Given the description of an element on the screen output the (x, y) to click on. 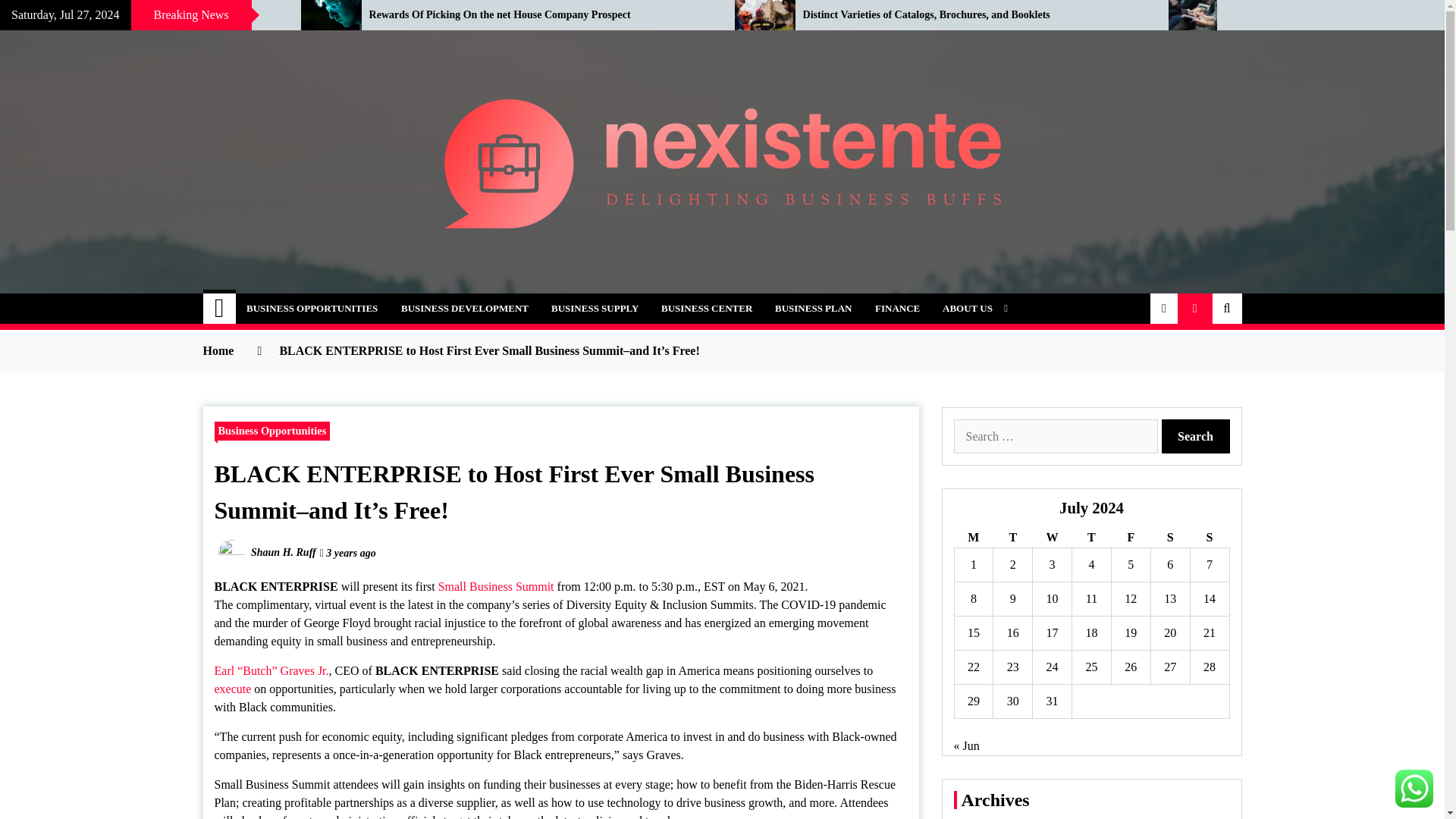
Sunday (1208, 537)
Monday (972, 537)
Distinct Varieties of Catalogs, Brochures, and Booklets (974, 15)
Saturday (1169, 537)
Home (219, 308)
Rewards Of Picking On the net House Company Prospect (540, 15)
Thursday (1091, 537)
Search (1195, 436)
Wednesday (1051, 537)
Tuesday (1012, 537)
Search (1195, 436)
Friday (1130, 537)
